Given the description of an element on the screen output the (x, y) to click on. 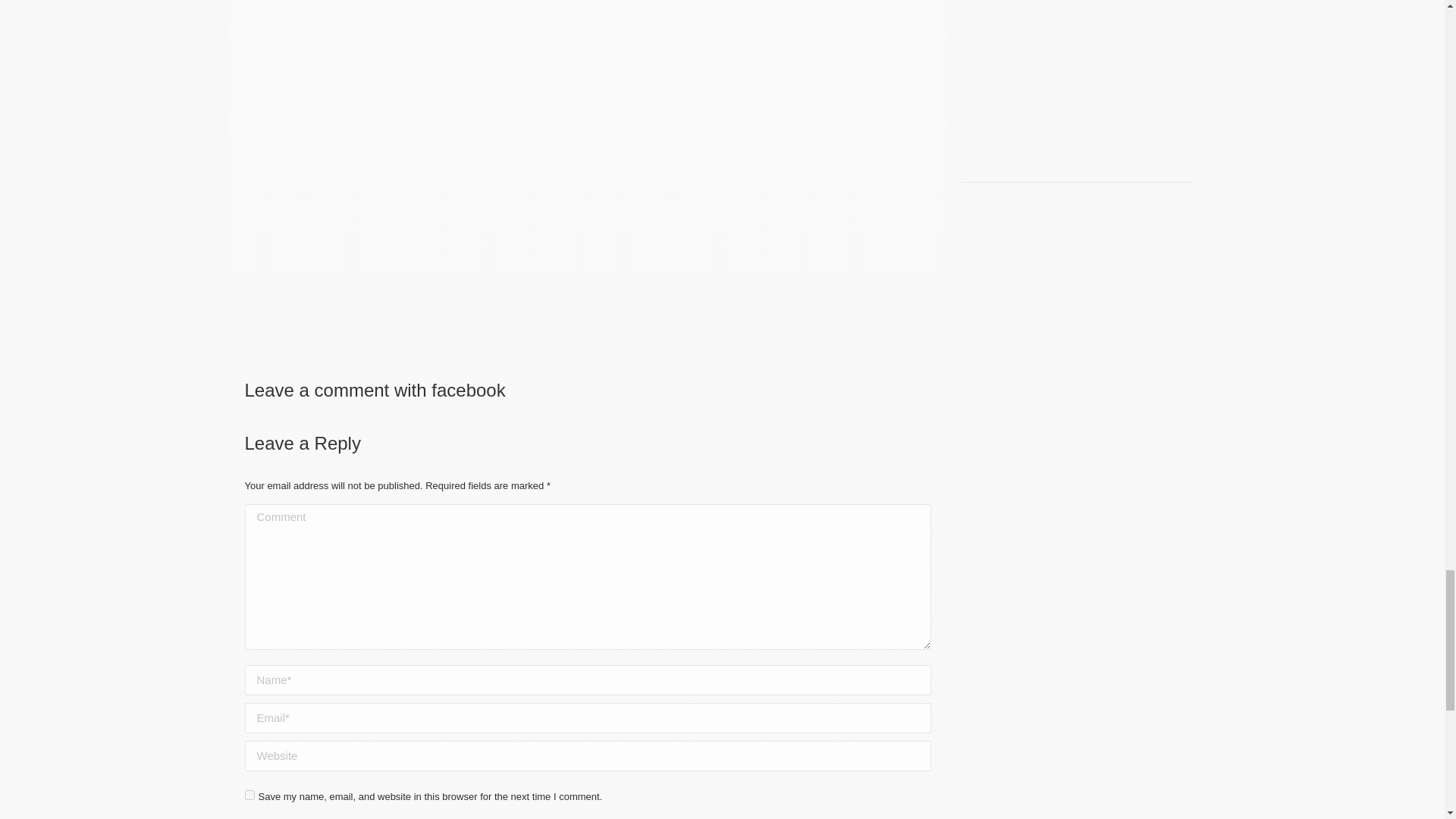
yes (248, 795)
